Given the description of an element on the screen output the (x, y) to click on. 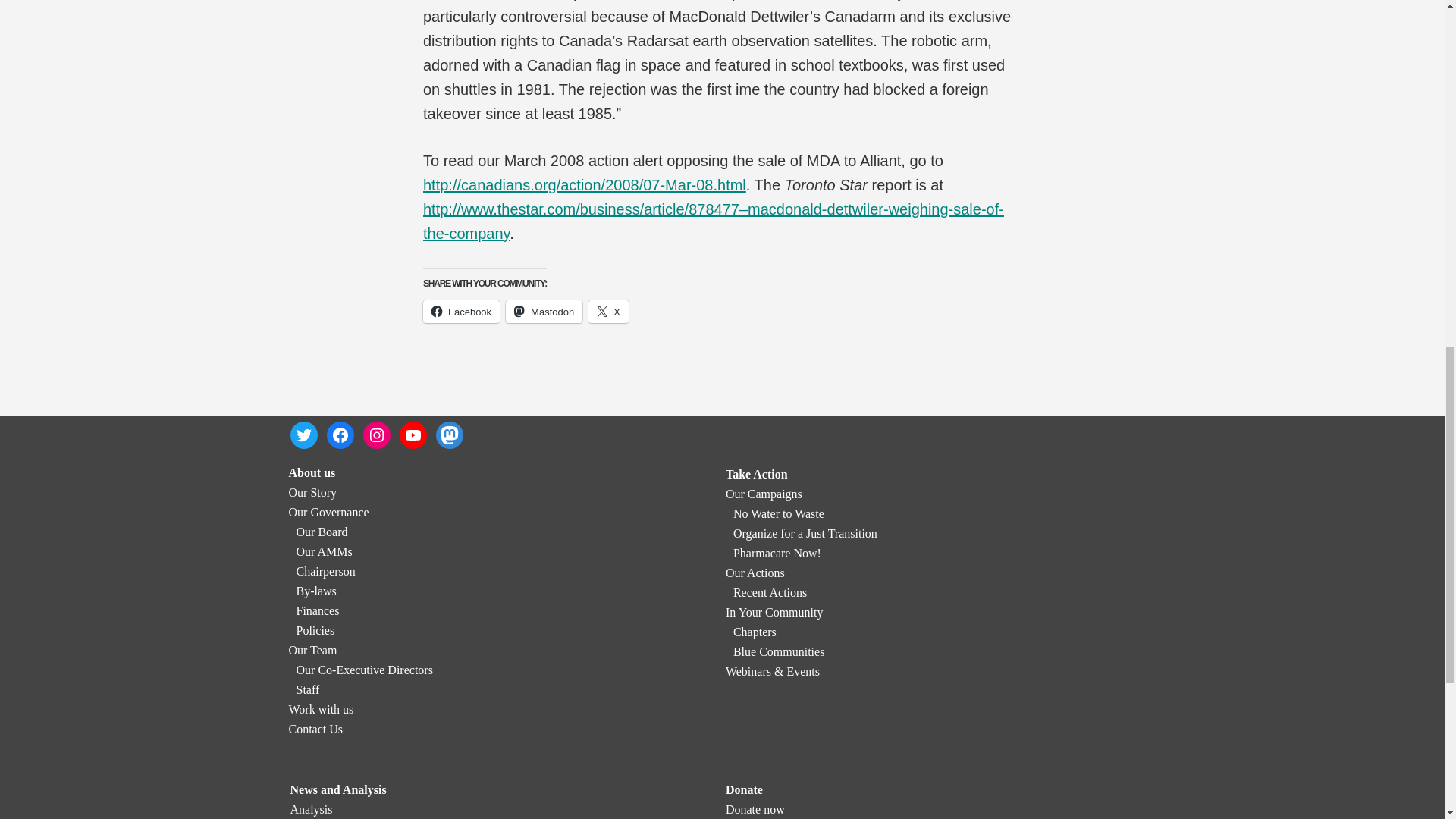
Click to share on Mastodon (543, 311)
Facebook (461, 311)
Chairperson (325, 571)
Click to share on X (608, 311)
X (608, 311)
Our Governance (328, 512)
Our AMMs (323, 551)
Click to share on Facebook (461, 311)
Our Board (321, 531)
Mastodon (543, 311)
